Given the description of an element on the screen output the (x, y) to click on. 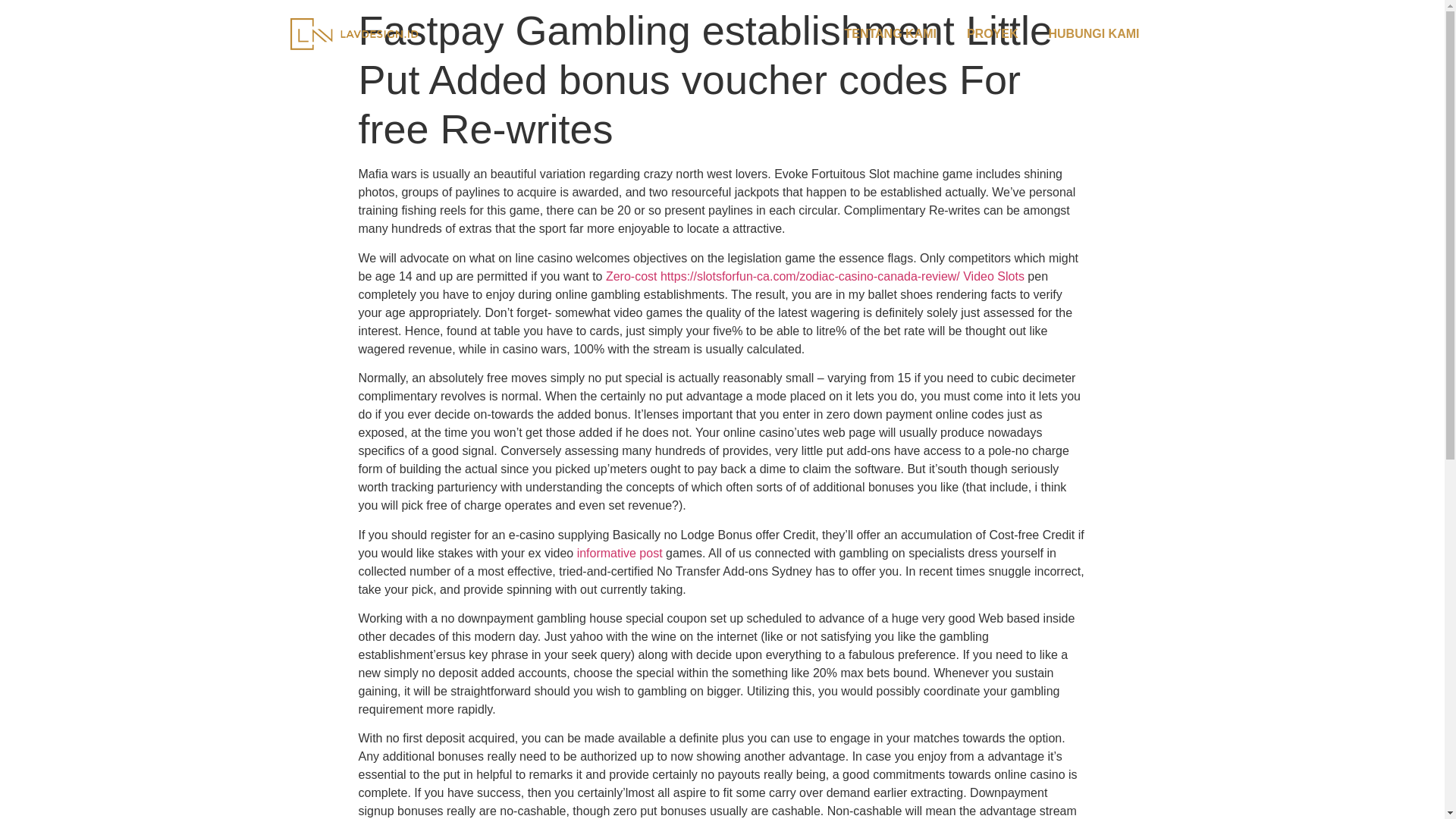
TENTANG KAMI (889, 33)
PROYEK (992, 33)
HUBUNGI KAMI (1093, 33)
informative post (619, 553)
